Given the description of an element on the screen output the (x, y) to click on. 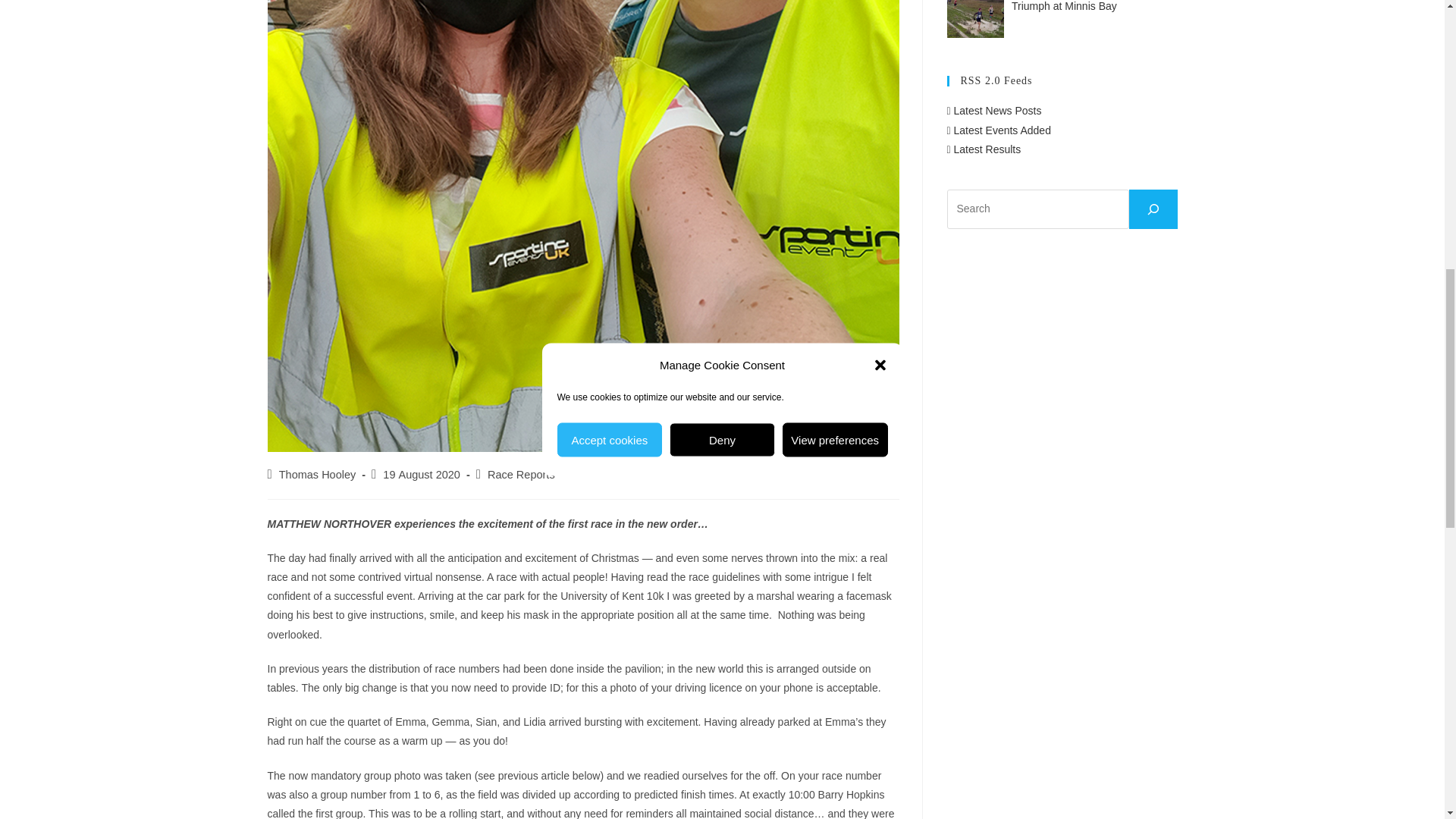
Posts by Thomas Hooley (317, 474)
